Given the description of an element on the screen output the (x, y) to click on. 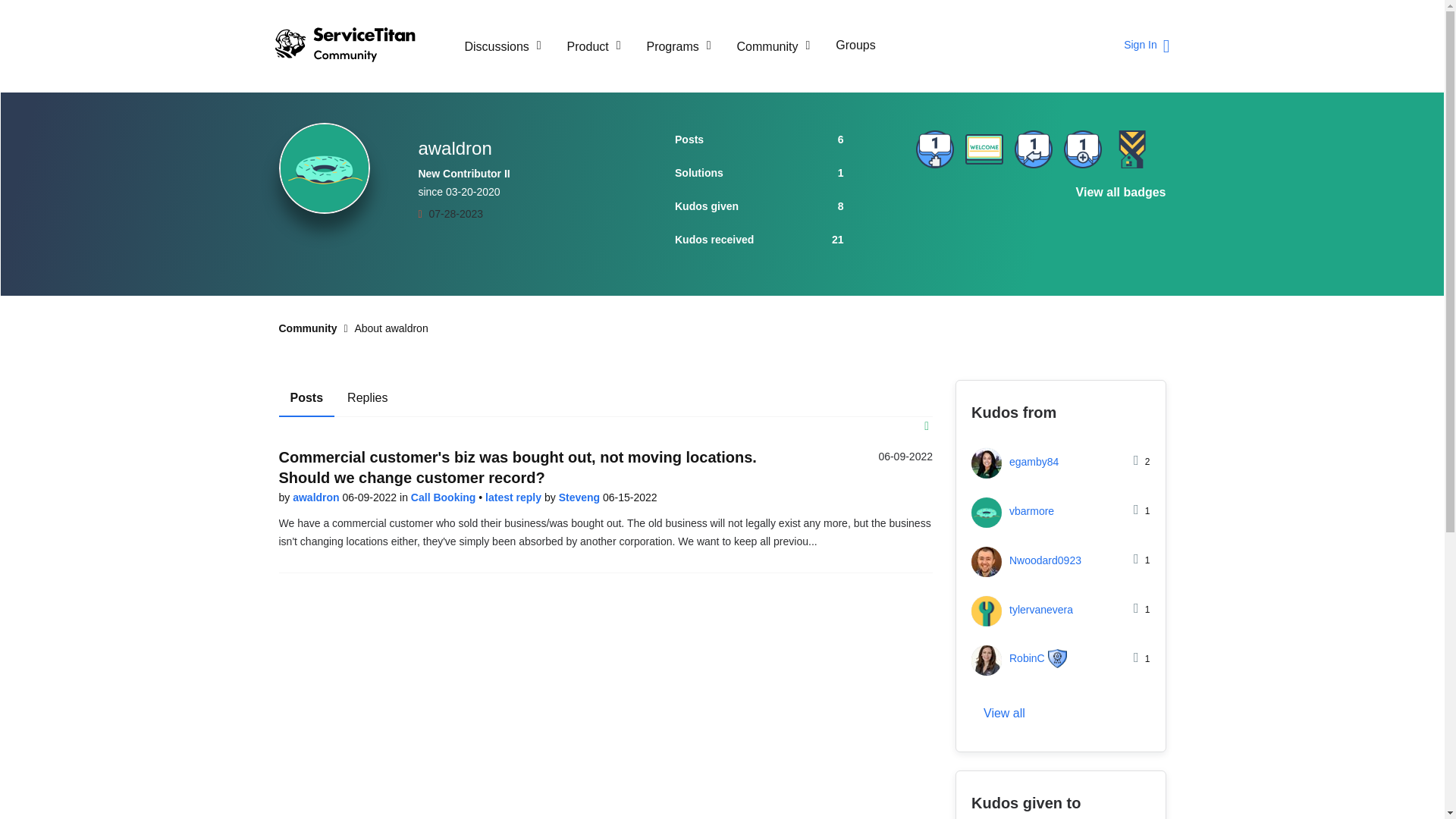
Product (593, 45)
Stamps of Approval (934, 202)
ServiceTitan Community (358, 45)
First Accepted Solution (934, 149)
awaldron (324, 167)
Welcome! (983, 149)
View profile (580, 497)
First Kudo (1033, 202)
Discussions (502, 45)
View post (514, 497)
Round of Applause (983, 202)
06-09-2022 11:45 AM 06-09-2022 11:45 AM (905, 456)
First Topic (1081, 149)
First Reply (1033, 149)
View profile (317, 497)
